Given the description of an element on the screen output the (x, y) to click on. 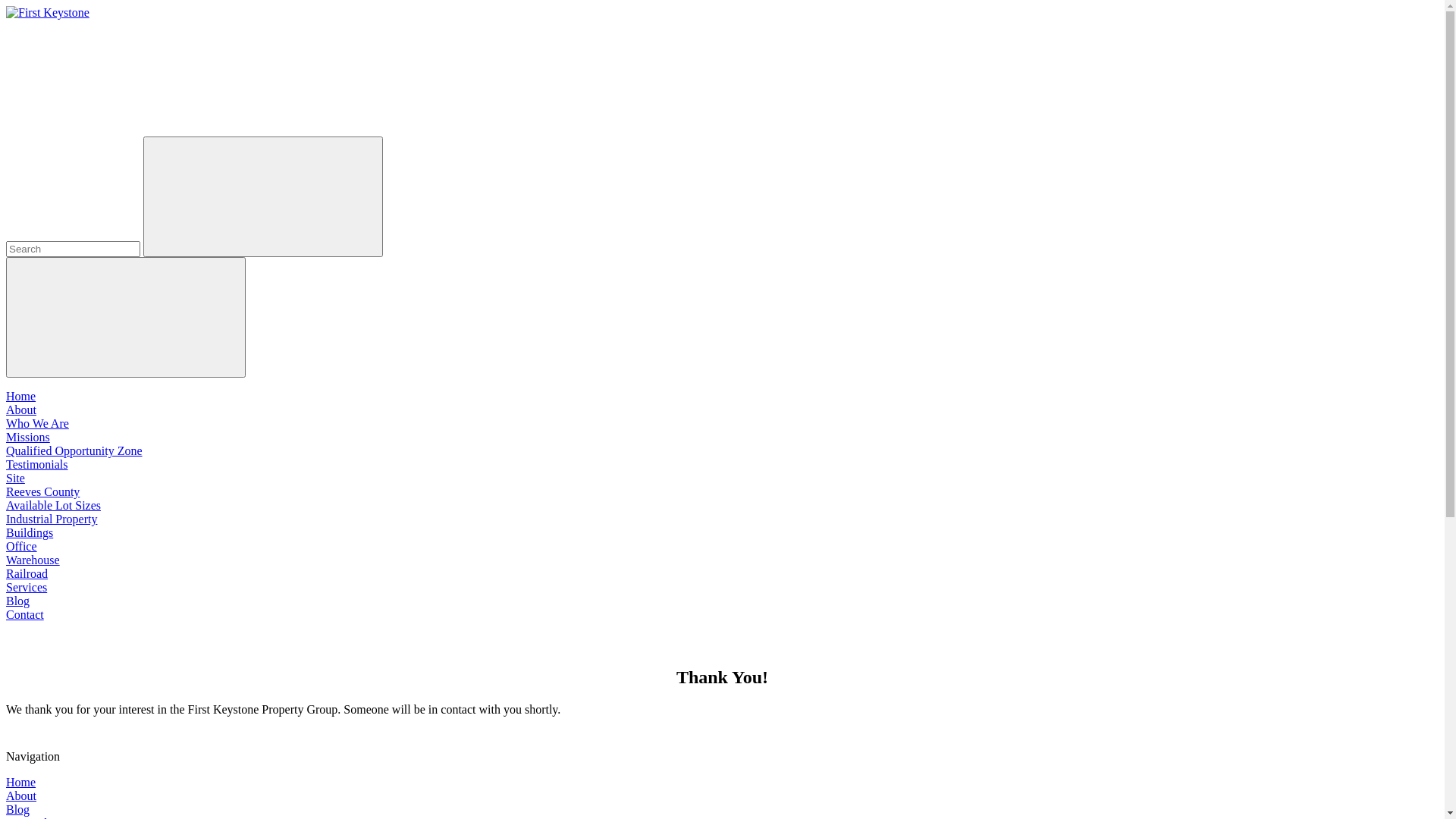
About Element type: text (21, 795)
Reeves County Element type: text (42, 491)
Who We Are Element type: text (37, 423)
Warehouse Element type: text (32, 559)
Available Lot Sizes Element type: text (53, 504)
Office Element type: text (21, 545)
Blog Element type: text (17, 600)
Railroad Element type: text (26, 573)
Contact Element type: text (24, 614)
Services Element type: text (26, 586)
Blog Element type: text (17, 809)
Buildings Element type: text (29, 532)
Industrial Property Element type: text (51, 518)
Site Element type: text (15, 477)
Missions Element type: text (28, 436)
Home Element type: text (20, 395)
About Element type: text (21, 409)
Qualified Opportunity Zone Element type: text (74, 450)
Testimonials Element type: text (37, 464)
Home Element type: text (20, 781)
